Given the description of an element on the screen output the (x, y) to click on. 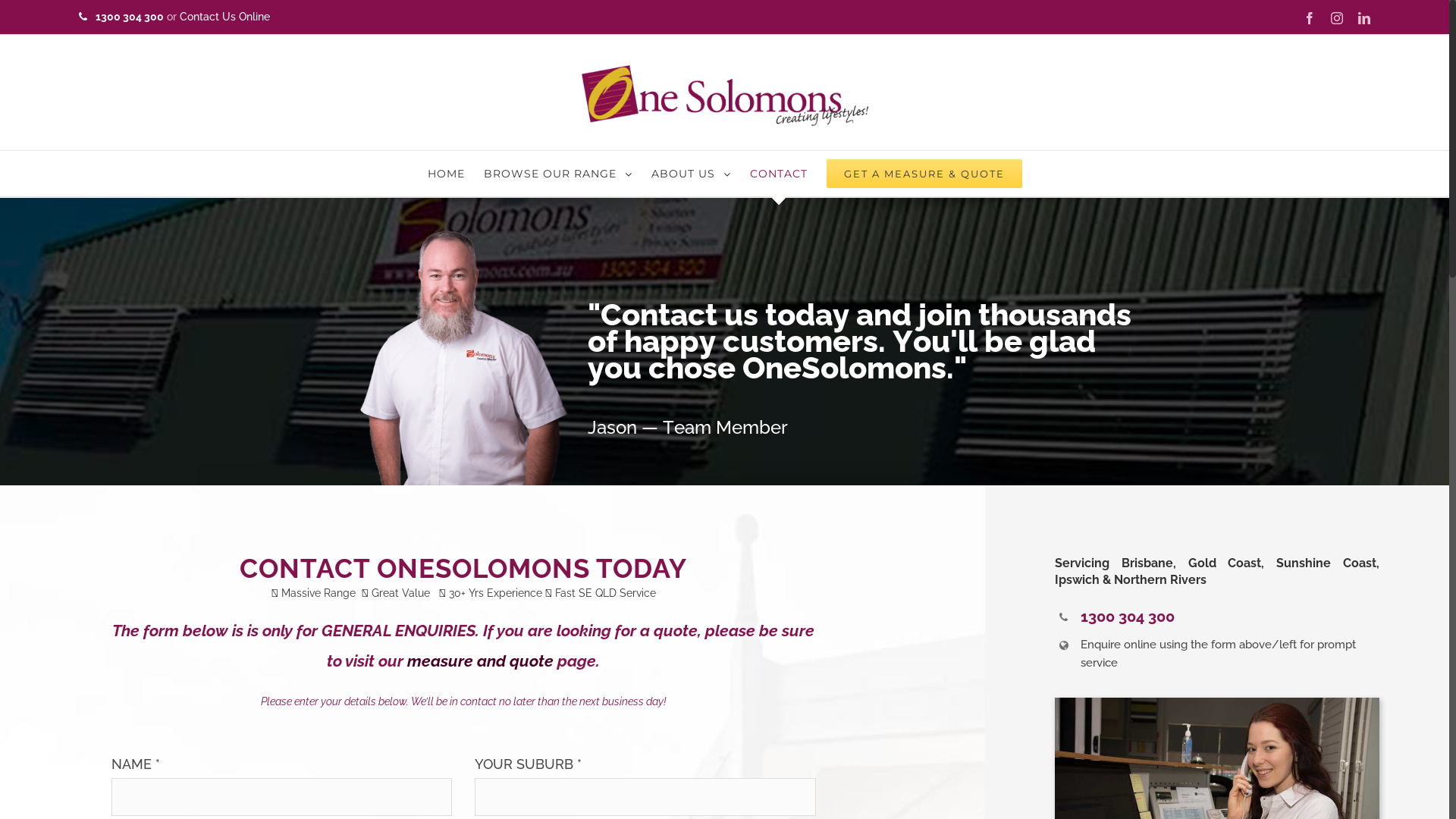
HOME Element type: text (445, 173)
GET A MEASURE & QUOTE Element type: text (924, 173)
Contact Us Online Element type: text (224, 16)
Instagram Element type: text (1336, 18)
Linkedin Element type: text (1364, 18)
Facebook Element type: text (1309, 18)
BROWSE OUR RANGE Element type: text (557, 173)
CONTACT Element type: text (777, 173)
measure and quote Element type: text (480, 660)
ABOUT US Element type: text (690, 173)
1300 304 300 Element type: text (1127, 616)
1300 304 300 Element type: text (129, 16)
